Given the description of an element on the screen output the (x, y) to click on. 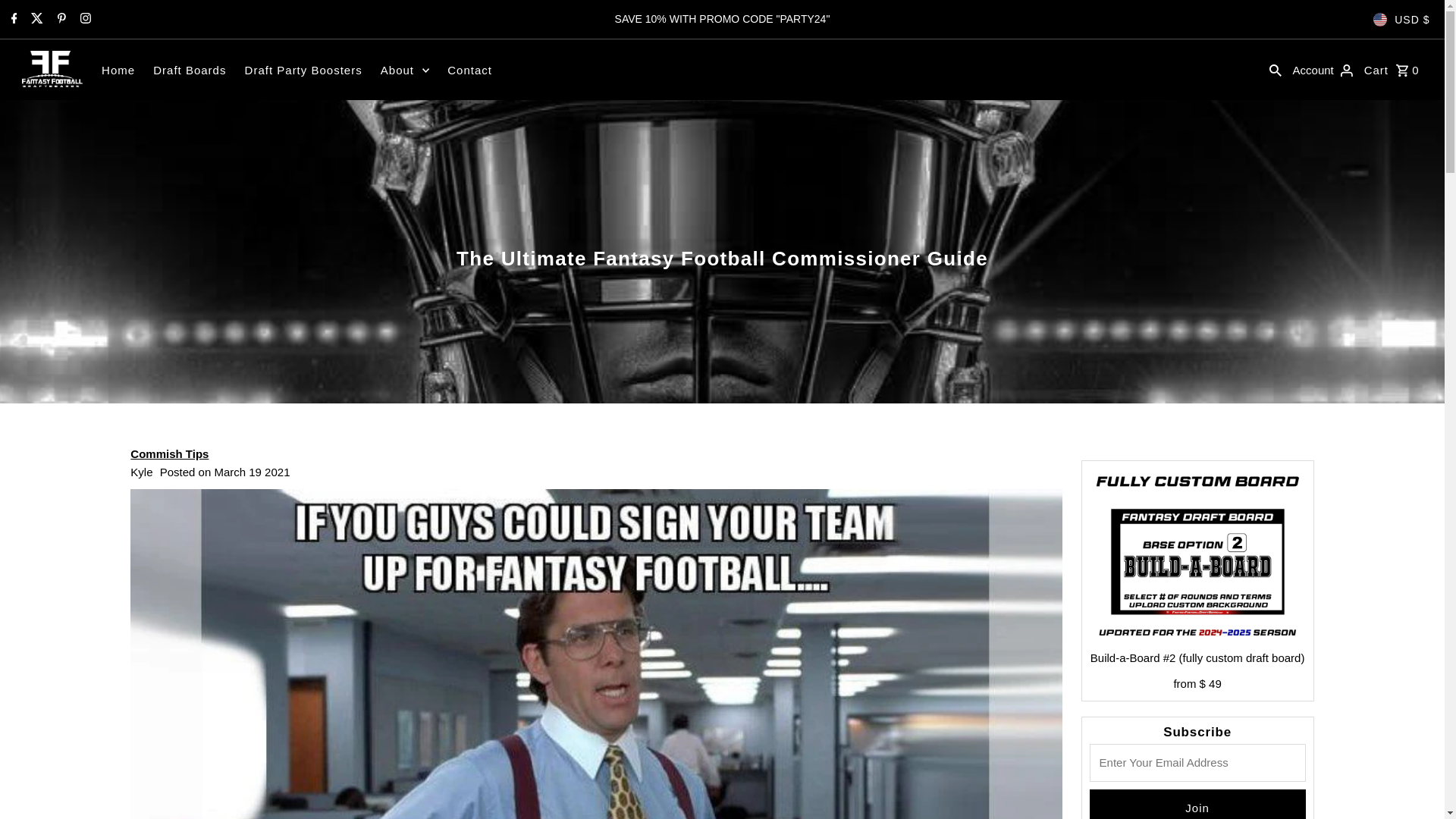
Draft Boards (188, 69)
Commish Tips (169, 453)
About (404, 69)
Contact (469, 69)
Home (118, 69)
Draft Party Boosters (303, 69)
Join (1197, 804)
